Given the description of an element on the screen output the (x, y) to click on. 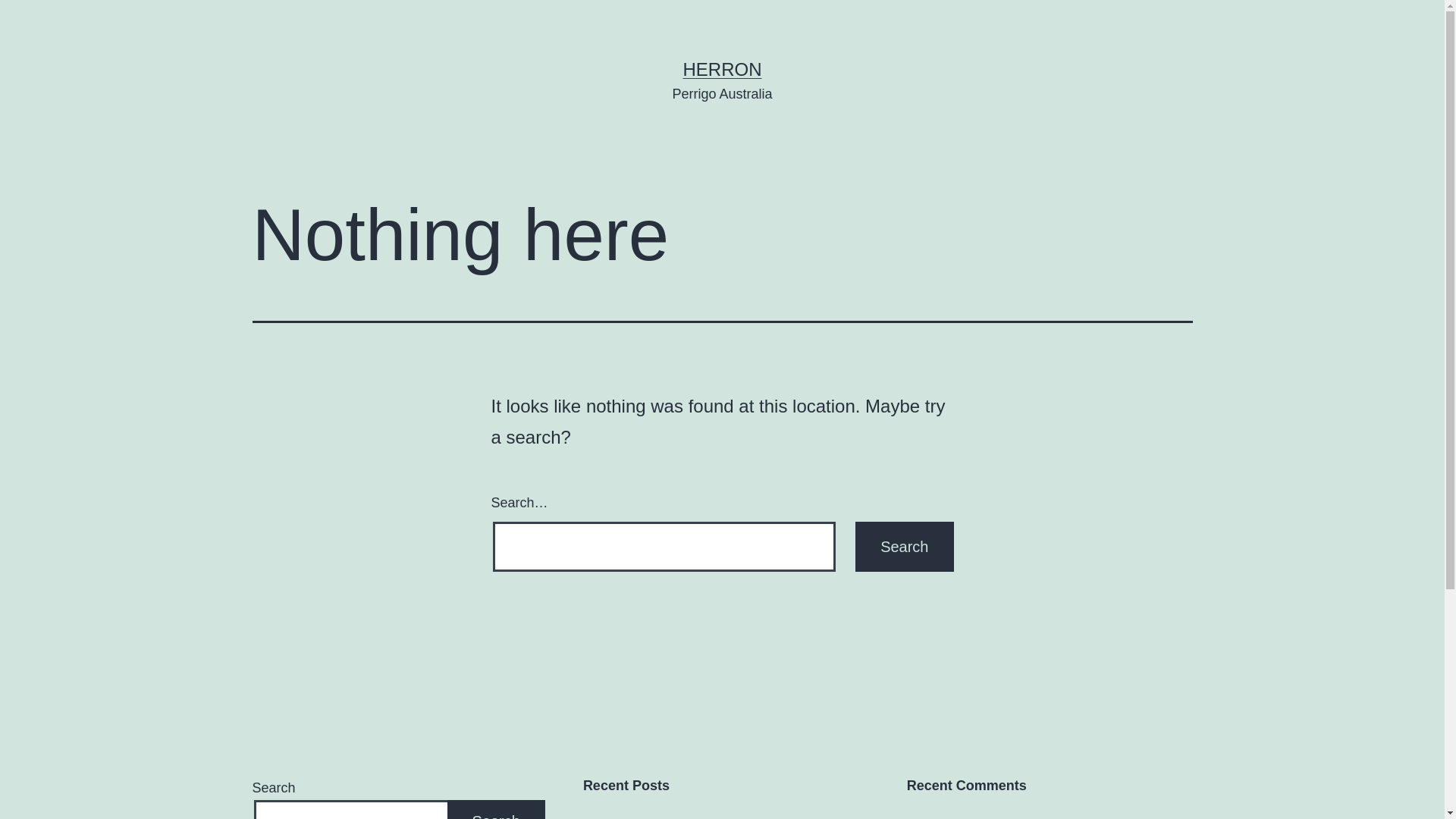
HERRON Element type: text (721, 69)
Search Element type: text (904, 546)
